Given the description of an element on the screen output the (x, y) to click on. 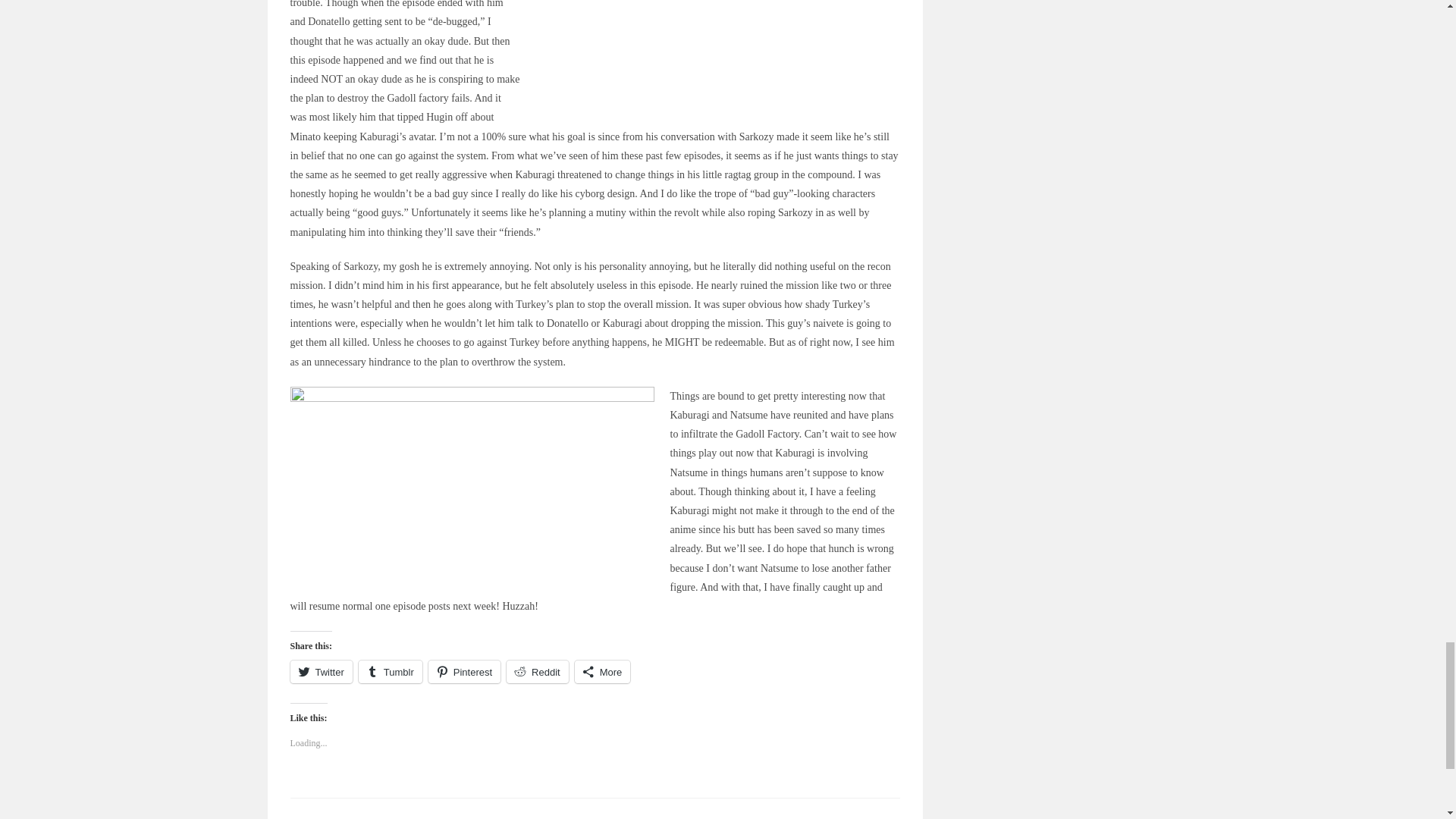
Click to share on Pinterest (464, 671)
Click to share on Twitter (320, 671)
Click to share on Tumblr (390, 671)
Click to share on Reddit (537, 671)
